Given the description of an element on the screen output the (x, y) to click on. 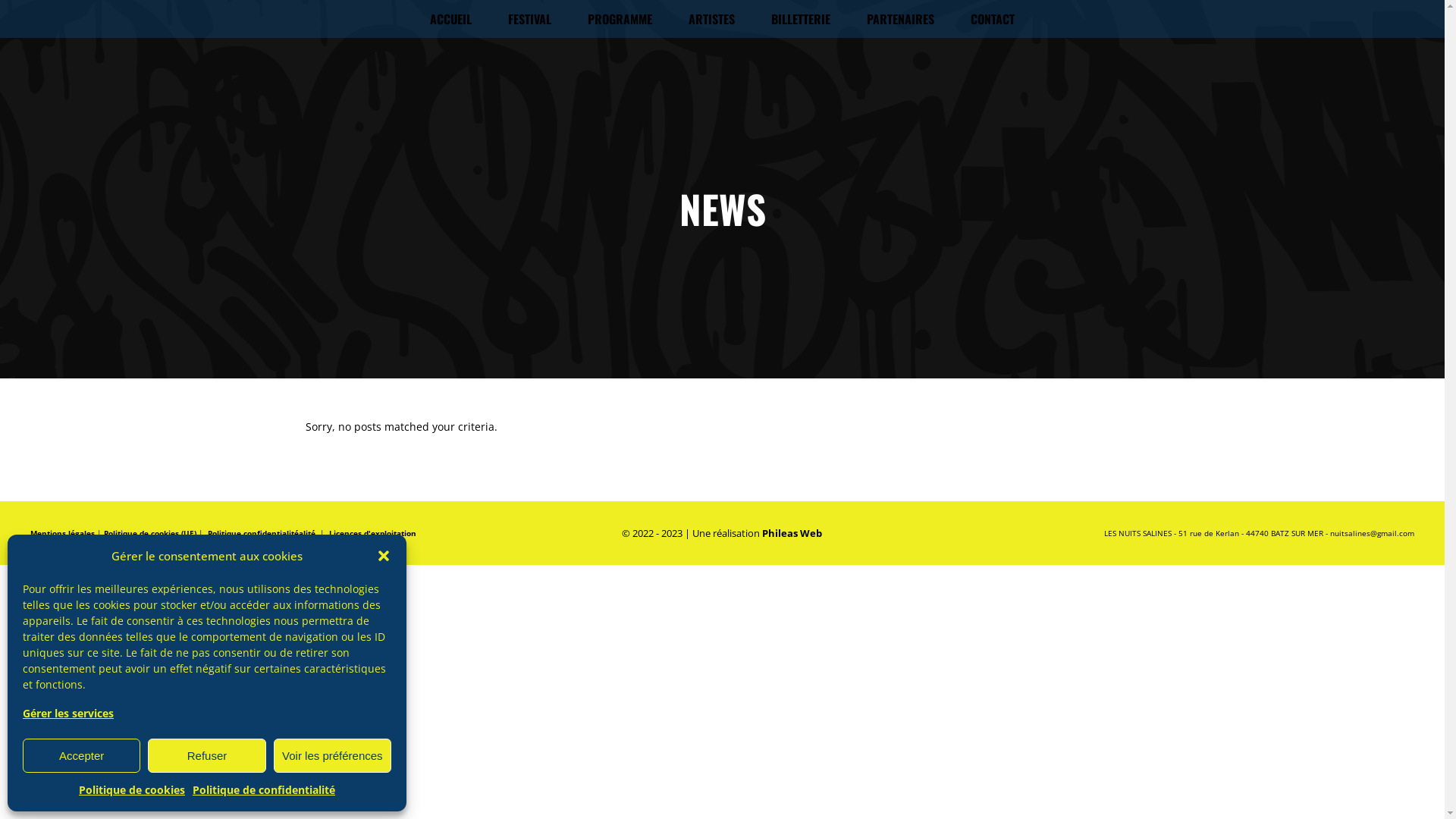
ACCUEIL Element type: text (450, 18)
Refuser Element type: text (206, 755)
ARTISTES Element type: text (711, 18)
CONTACT Element type: text (992, 18)
PROGRAMME Element type: text (619, 18)
Phileas Web Element type: text (792, 532)
PARTENAIRES Element type: text (900, 18)
BILLETTERIE Element type: text (800, 18)
Licences d'exploitation Element type: text (372, 532)
Politique de cookies Element type: text (131, 790)
Accepter Element type: text (81, 755)
Politique de cookies (UE) Element type: text (149, 532)
FESTIVAL Element type: text (529, 18)
